Given the description of an element on the screen output the (x, y) to click on. 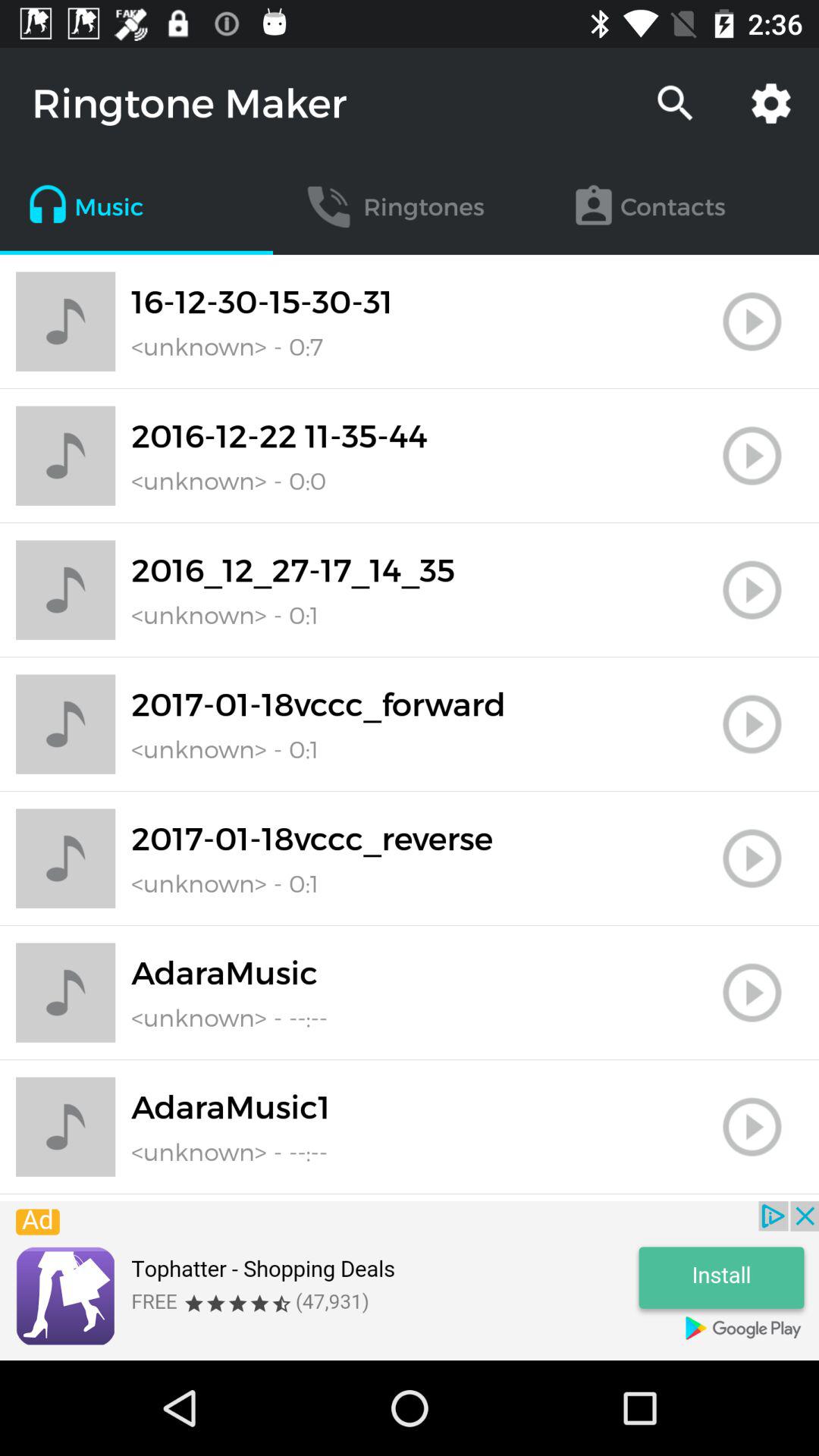
play (752, 455)
